Given the description of an element on the screen output the (x, y) to click on. 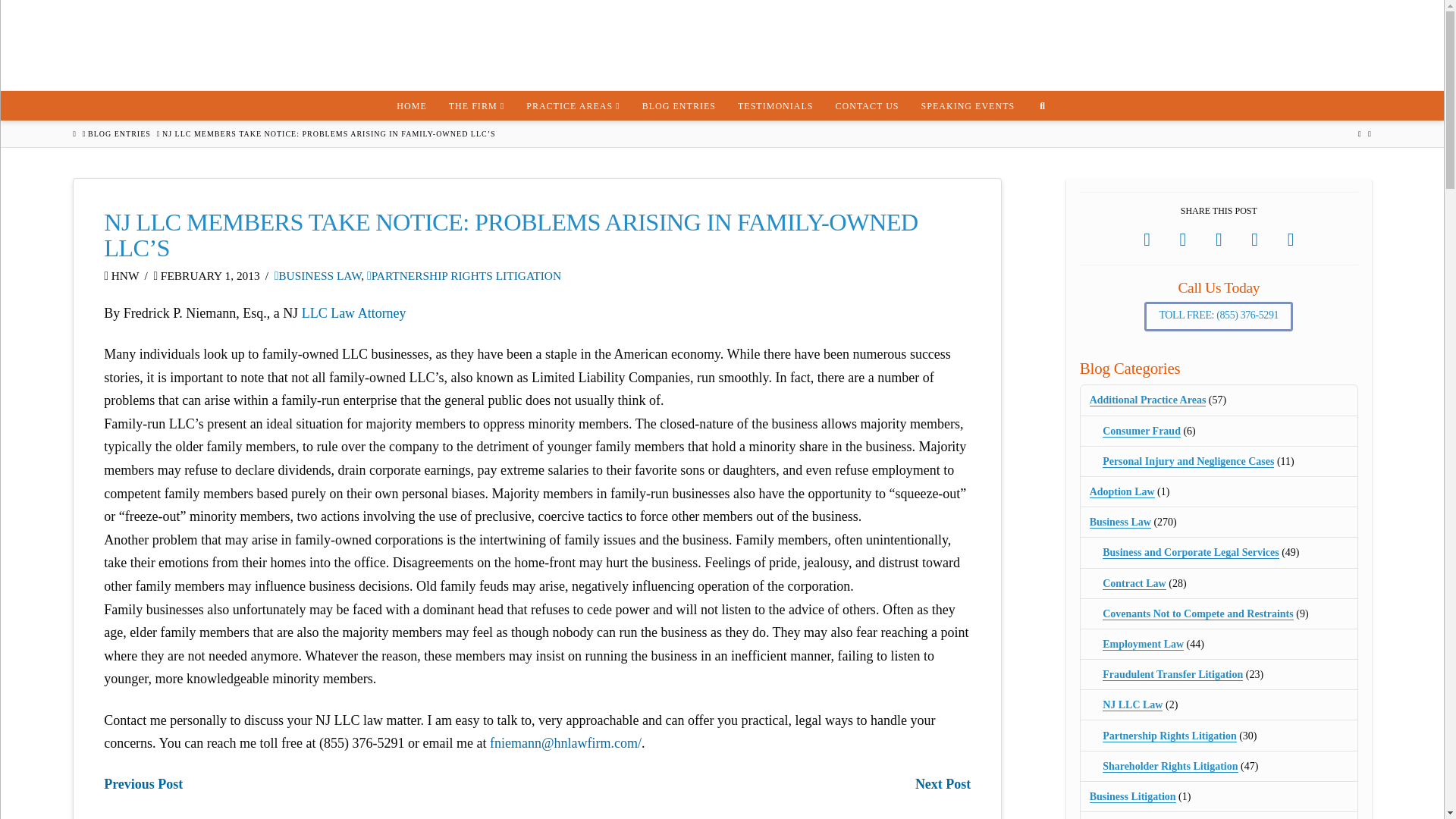
Share via Email (1290, 239)
Share on Twitter (1182, 239)
SPEAKING EVENTS (968, 104)
TESTIMONIALS (775, 104)
Share on Pinterest (1254, 239)
HOME (410, 104)
Share on Facebook (1146, 239)
Share on LinkedIn (1219, 239)
BLOG ENTRIES (678, 104)
THE FIRM (476, 104)
